Given the description of an element on the screen output the (x, y) to click on. 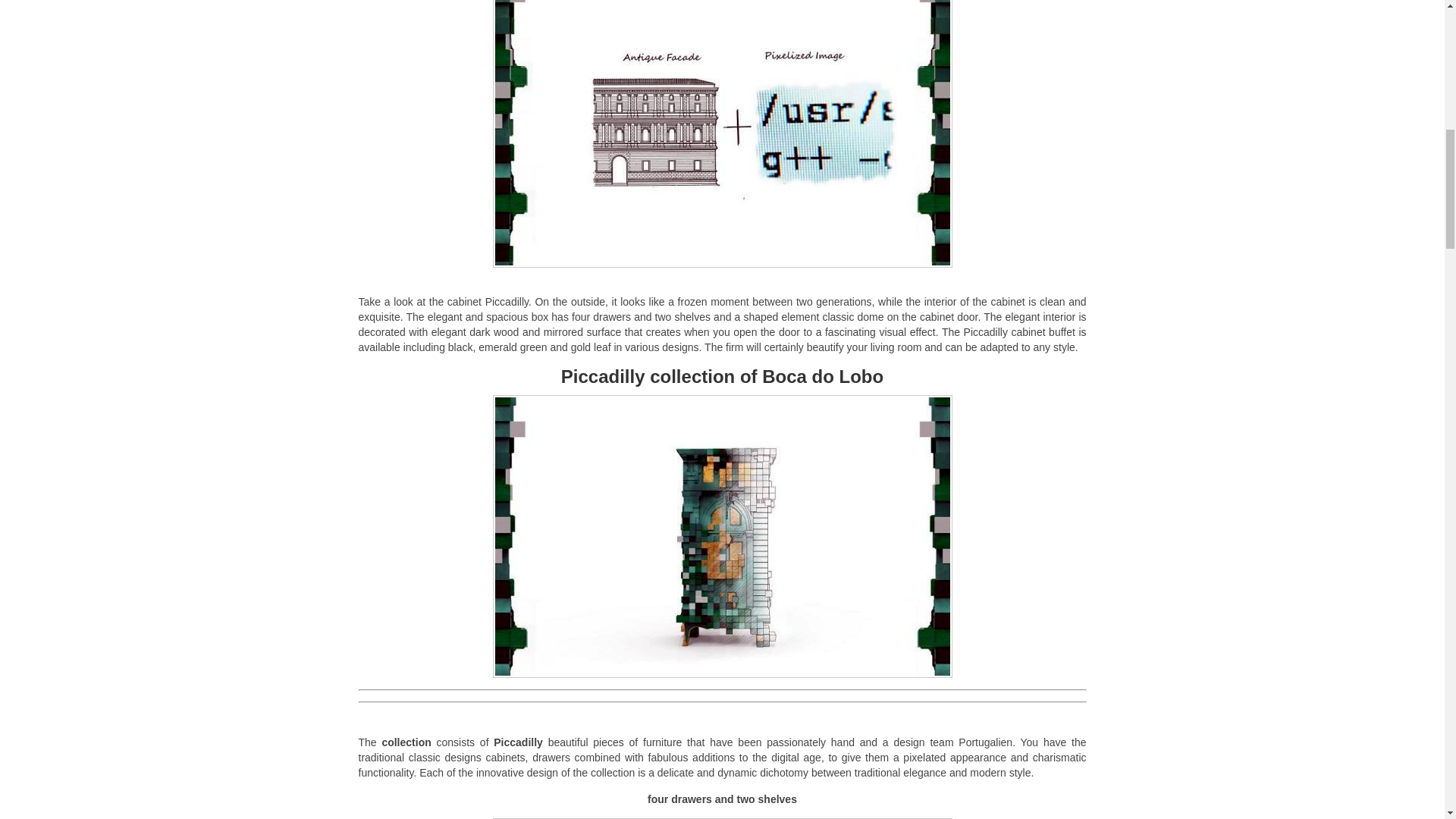
Furniture Design (722, 536)
Sideboards (722, 133)
